Given the description of an element on the screen output the (x, y) to click on. 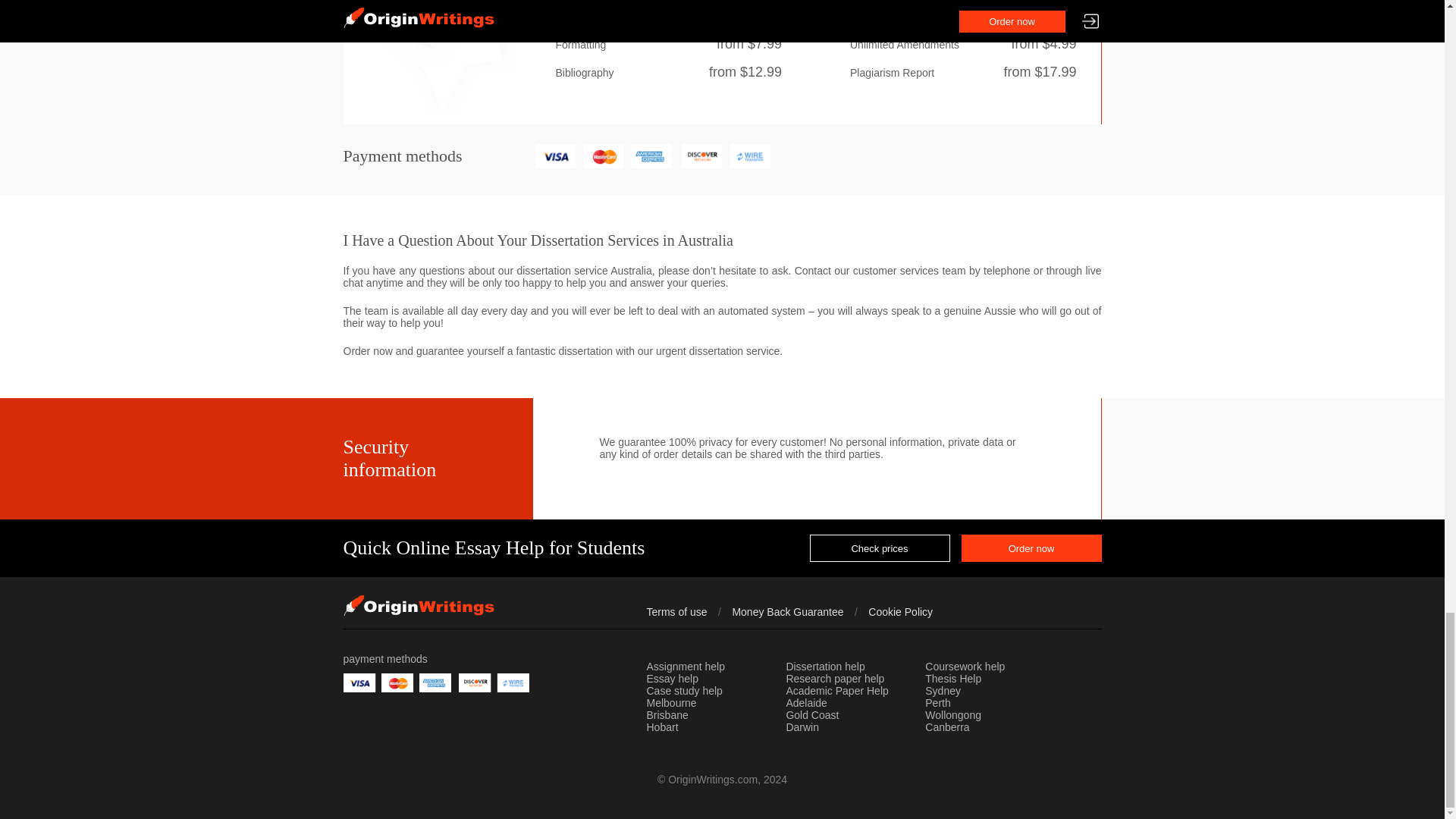
Coursework help (964, 667)
Thesis Help (952, 679)
Check prices (879, 547)
Dissertation help (825, 667)
Assignment help (685, 667)
Essay help (671, 679)
Academic Paper Help (837, 691)
Terms of use (676, 612)
Money Back Guarantee (787, 612)
Order now (1031, 547)
Research paper help (834, 679)
Case study help (684, 691)
Cookie Policy (900, 612)
